Given the description of an element on the screen output the (x, y) to click on. 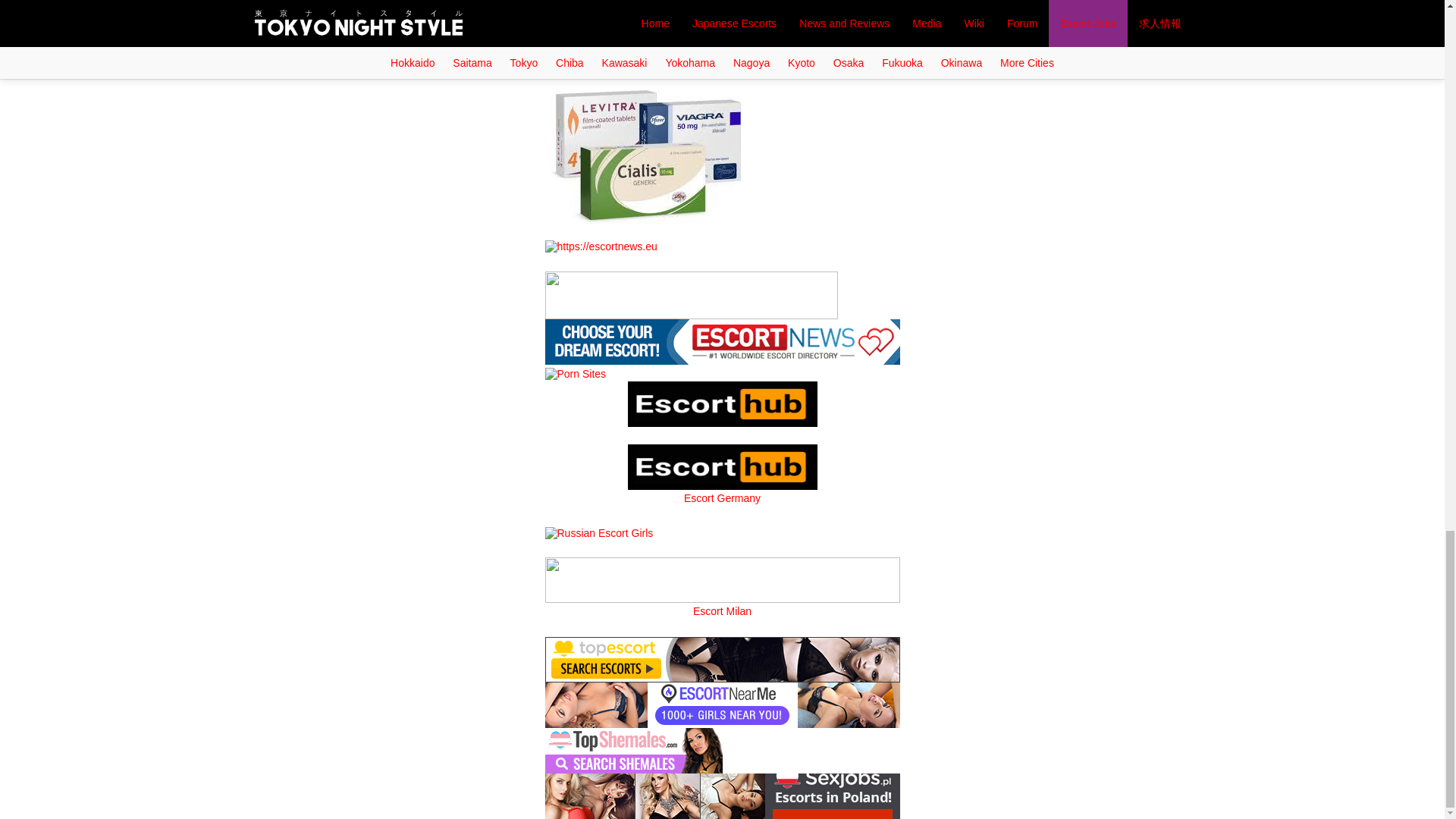
Escort Near Me (721, 704)
Escort Warsaw (721, 795)
Escort Milan (721, 579)
Russian escort (598, 532)
Escort Germany (721, 466)
Topescort (721, 658)
Top Shemales Escort (633, 749)
Porn Sites List (574, 372)
Escorts near me (721, 340)
